Given the description of an element on the screen output the (x, y) to click on. 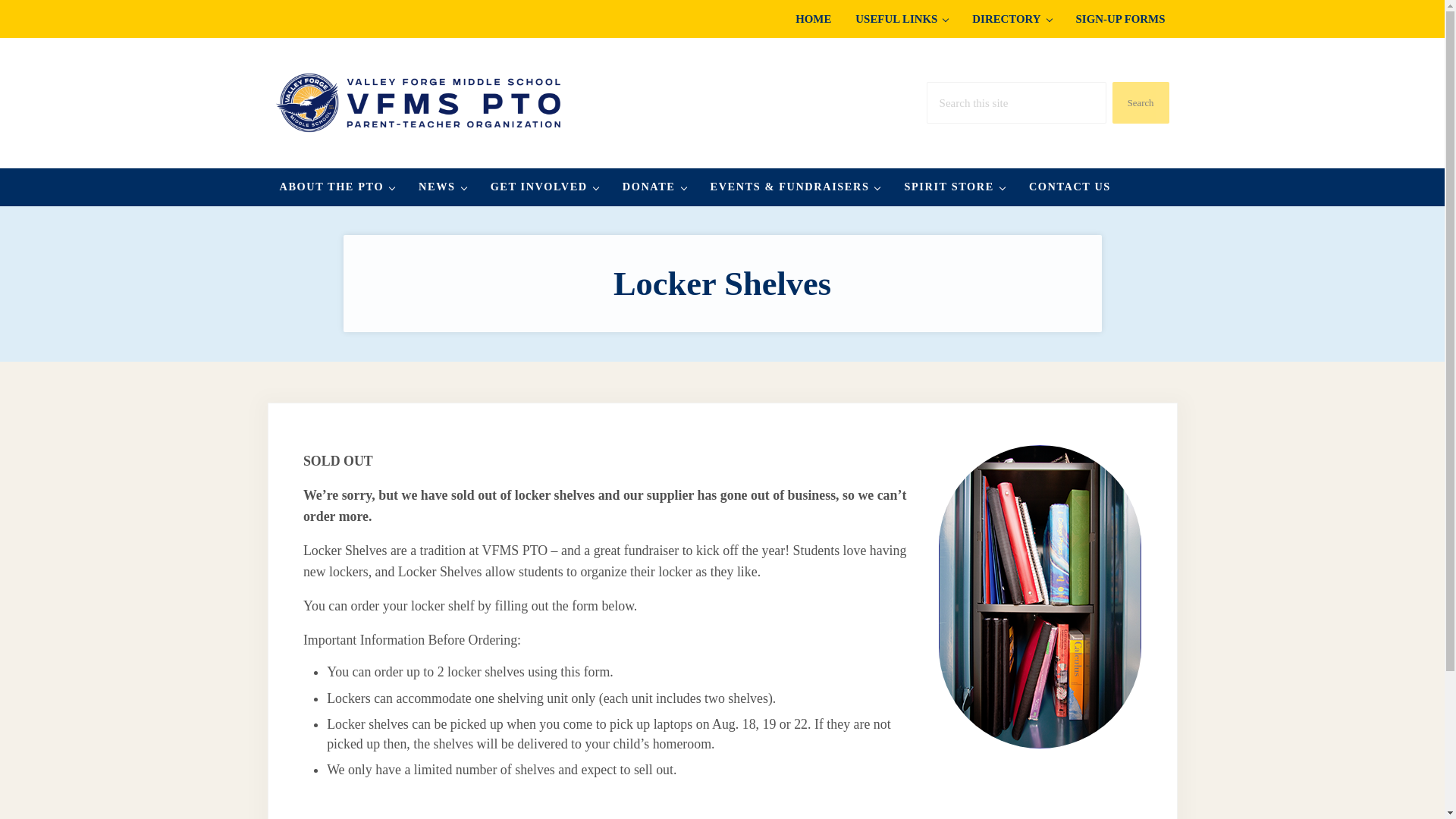
HOME (813, 18)
Search (1140, 102)
USEFUL LINKS (901, 18)
SIGN-UP FORMS (1120, 18)
DIRECTORY (1010, 18)
